Given the description of an element on the screen output the (x, y) to click on. 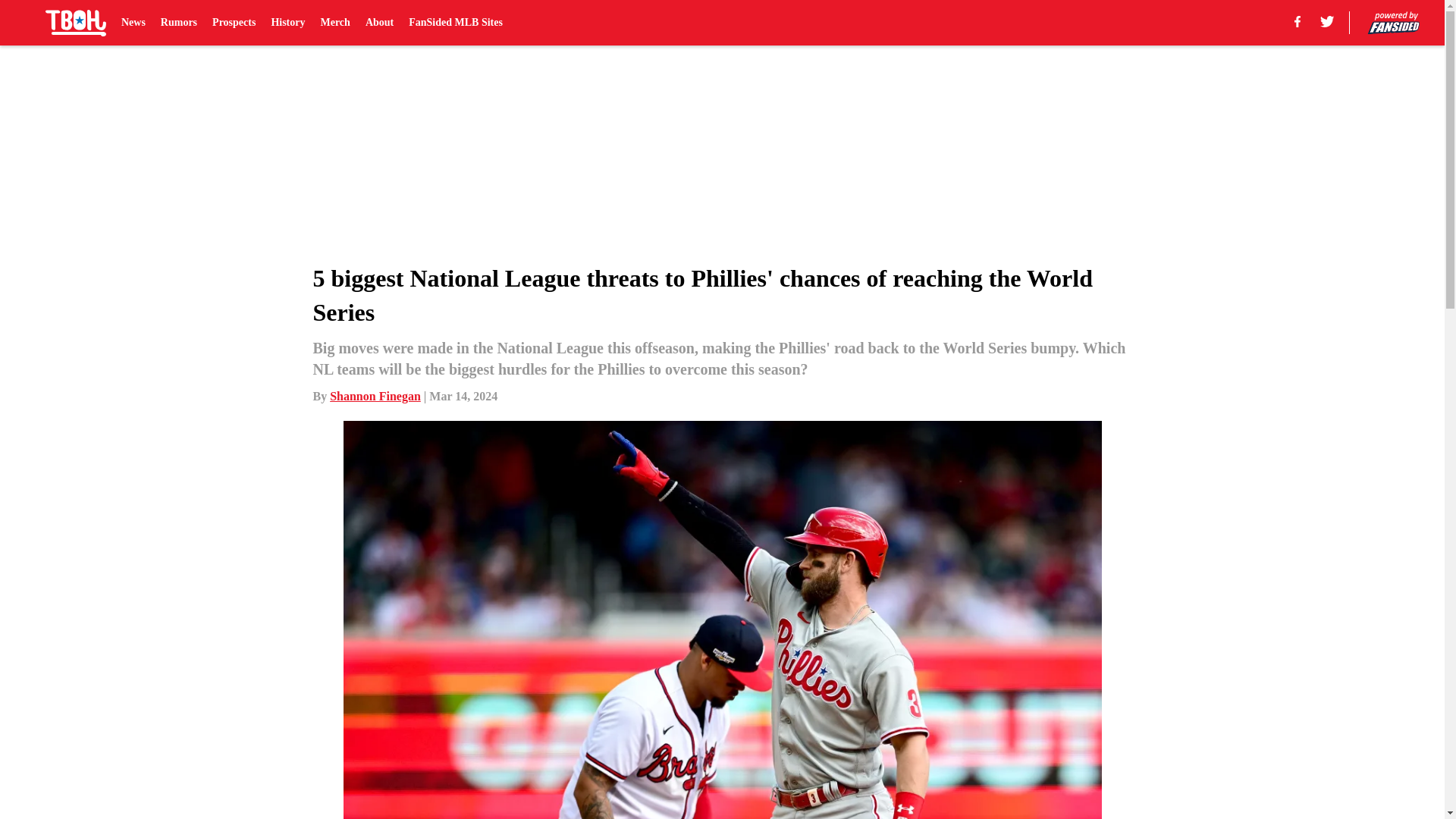
History (287, 22)
Rumors (178, 22)
Prospects (234, 22)
FanSided MLB Sites (455, 22)
News (132, 22)
Shannon Finegan (375, 395)
Merch (334, 22)
About (379, 22)
